Given the description of an element on the screen output the (x, y) to click on. 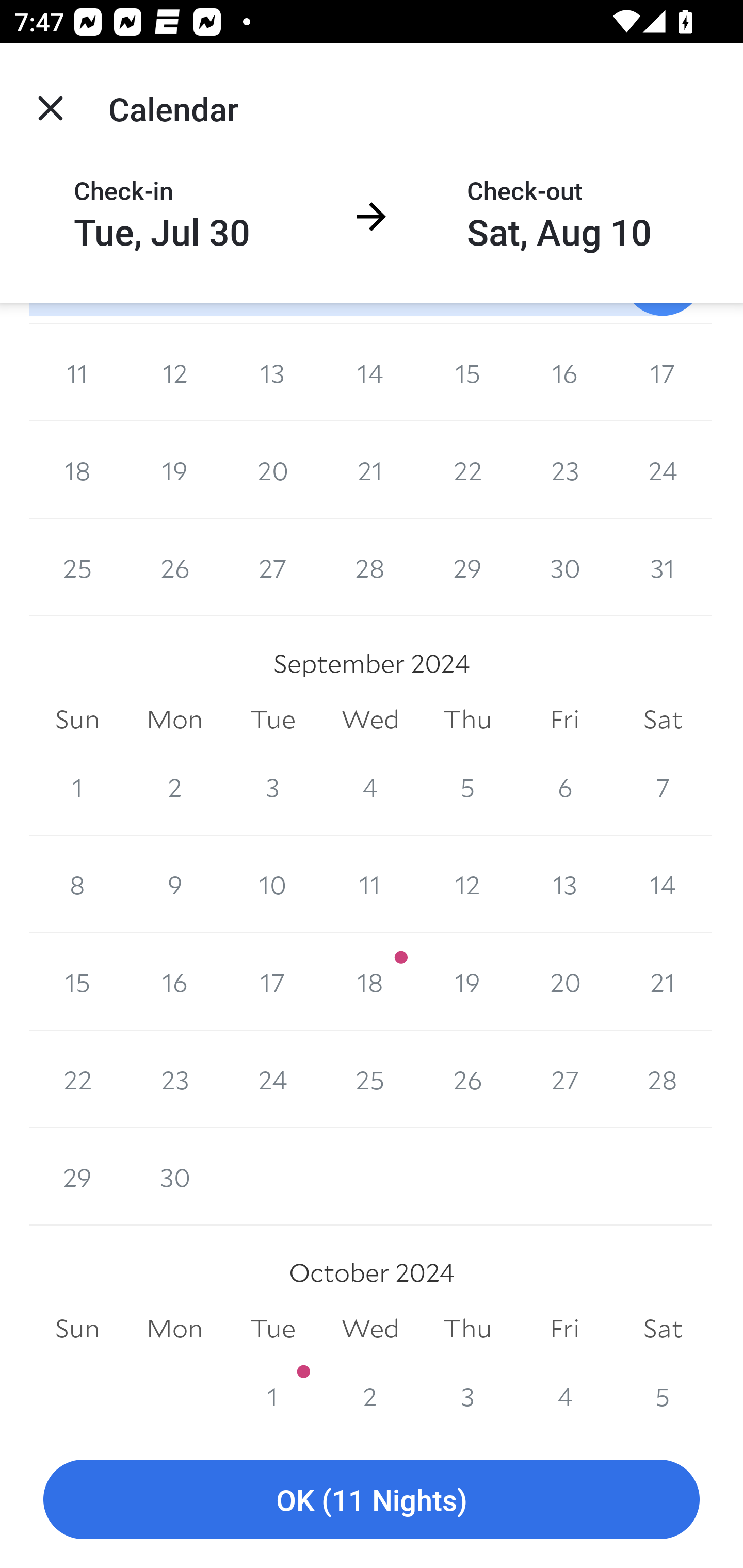
11 11 August 2024 (77, 372)
12 12 August 2024 (174, 372)
13 13 August 2024 (272, 372)
14 14 August 2024 (370, 372)
15 15 August 2024 (467, 372)
16 16 August 2024 (564, 372)
17 17 August 2024 (662, 372)
18 18 August 2024 (77, 470)
19 19 August 2024 (174, 470)
20 20 August 2024 (272, 470)
21 21 August 2024 (370, 470)
22 22 August 2024 (467, 470)
23 23 August 2024 (564, 470)
24 24 August 2024 (662, 470)
25 25 August 2024 (77, 567)
26 26 August 2024 (174, 567)
27 27 August 2024 (272, 567)
28 28 August 2024 (370, 567)
29 29 August 2024 (467, 567)
30 30 August 2024 (564, 567)
31 31 August 2024 (662, 567)
Sun (77, 719)
Mon (174, 719)
Tue (272, 719)
Wed (370, 719)
Thu (467, 719)
Fri (564, 719)
Sat (662, 719)
1 1 September 2024 (77, 786)
2 2 September 2024 (174, 786)
3 3 September 2024 (272, 786)
4 4 September 2024 (370, 786)
5 5 September 2024 (467, 786)
6 6 September 2024 (564, 786)
7 7 September 2024 (662, 786)
8 8 September 2024 (77, 883)
9 9 September 2024 (174, 883)
10 10 September 2024 (272, 883)
11 11 September 2024 (370, 883)
12 12 September 2024 (467, 883)
13 13 September 2024 (564, 883)
14 14 September 2024 (662, 883)
15 15 September 2024 (77, 981)
16 16 September 2024 (174, 981)
17 17 September 2024 (272, 981)
18 18 September 2024 (370, 981)
19 19 September 2024 (467, 981)
20 20 September 2024 (564, 981)
21 21 September 2024 (662, 981)
